Given the description of an element on the screen output the (x, y) to click on. 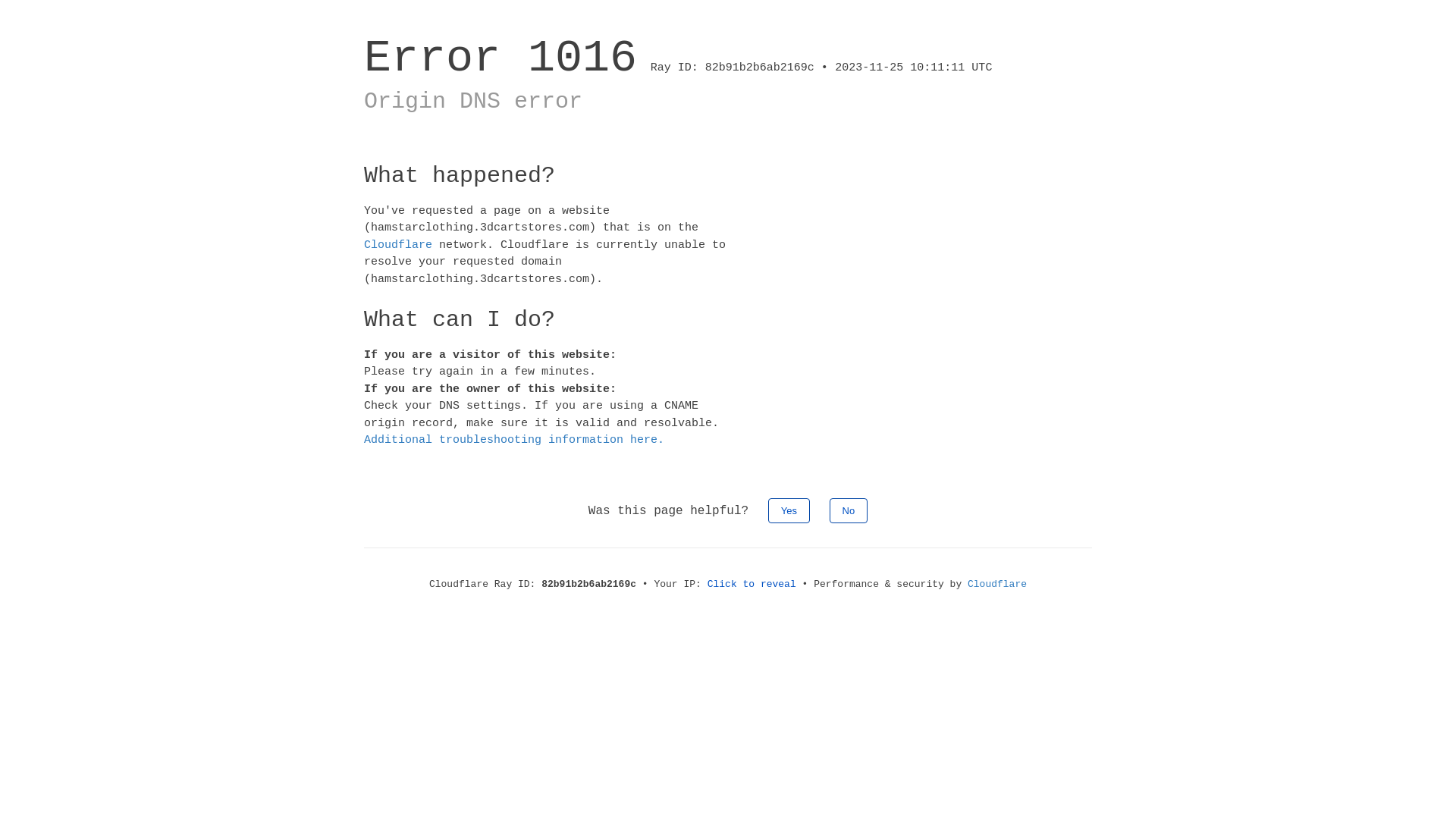
Cloudflare Element type: text (996, 583)
No Element type: text (848, 509)
Additional troubleshooting information here. Element type: text (514, 439)
Click to reveal Element type: text (751, 583)
Yes Element type: text (788, 509)
Cloudflare Element type: text (398, 244)
